Given the description of an element on the screen output the (x, y) to click on. 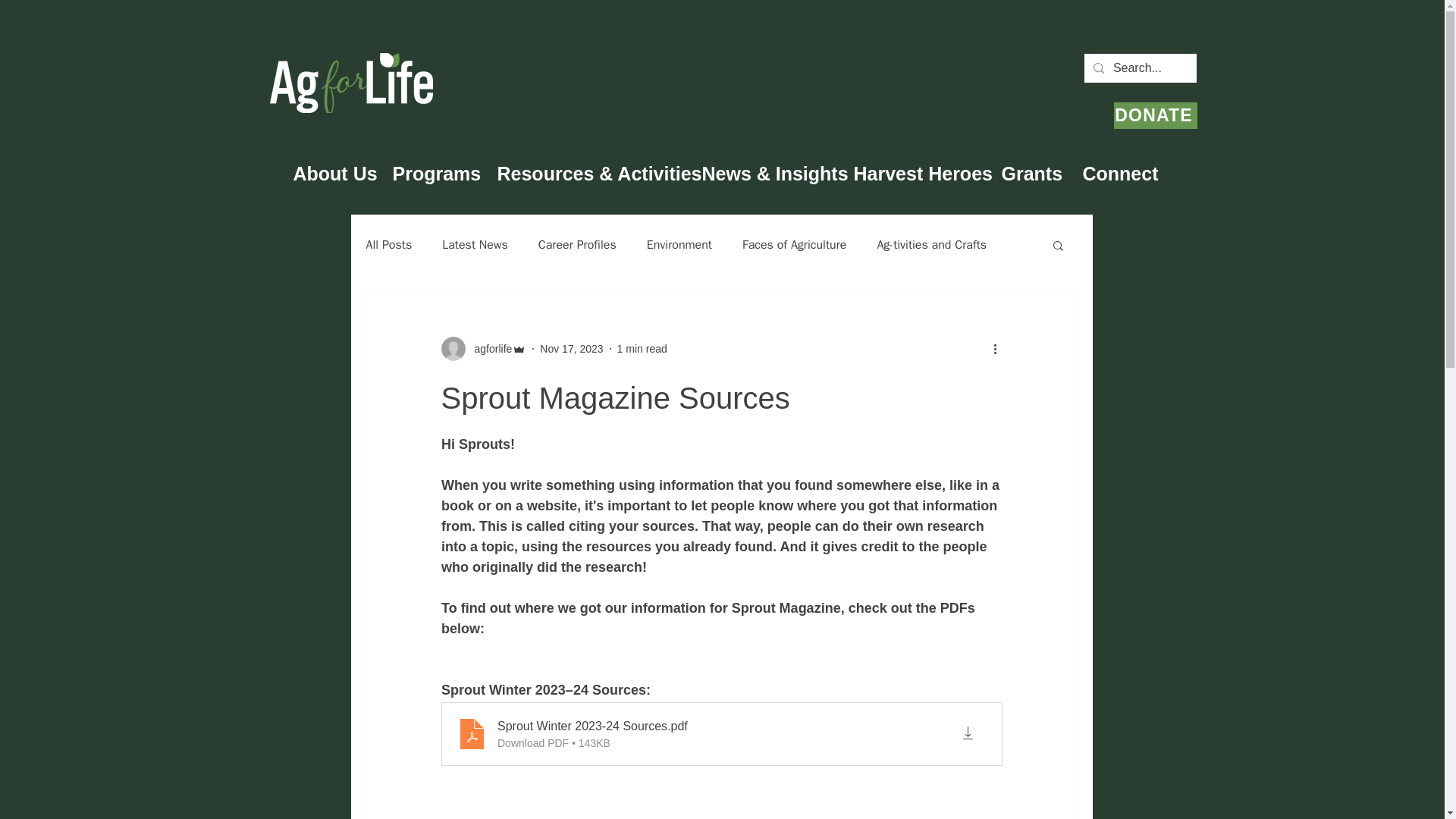
Nov 17, 2023 (571, 348)
Harvest Heroes (914, 170)
Connect (1115, 170)
Programs (432, 170)
agforlife (484, 348)
agforlife (488, 349)
Faces of Agriculture (793, 244)
Environment (678, 244)
All Posts (388, 244)
Latest News (475, 244)
Ag-tivities and Crafts (931, 244)
1 min read (641, 348)
About Us (331, 170)
DONATE (1154, 115)
Career Profiles (576, 244)
